Given the description of an element on the screen output the (x, y) to click on. 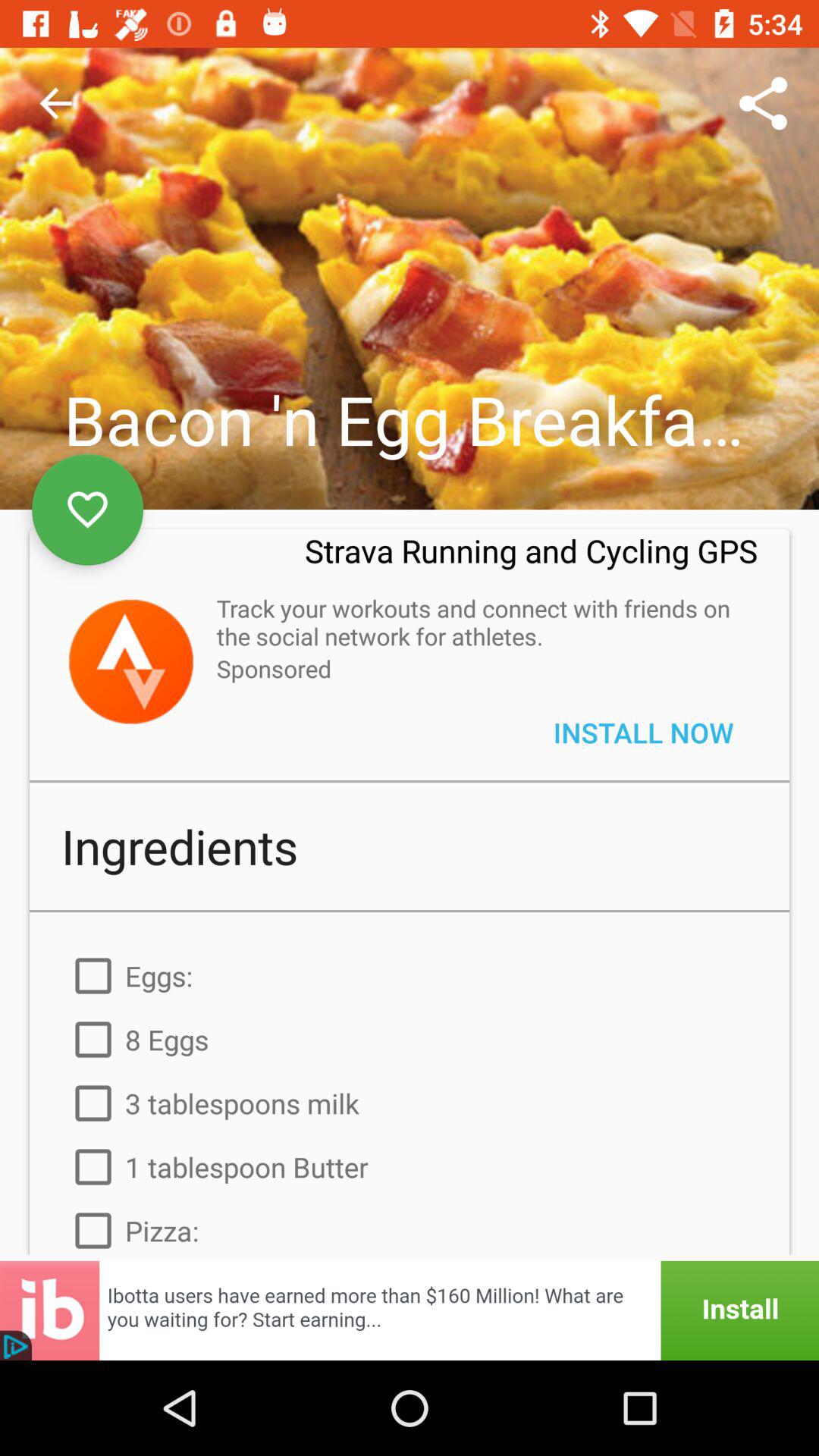
press the icon to the left of install now item (273, 668)
